Given the description of an element on the screen output the (x, y) to click on. 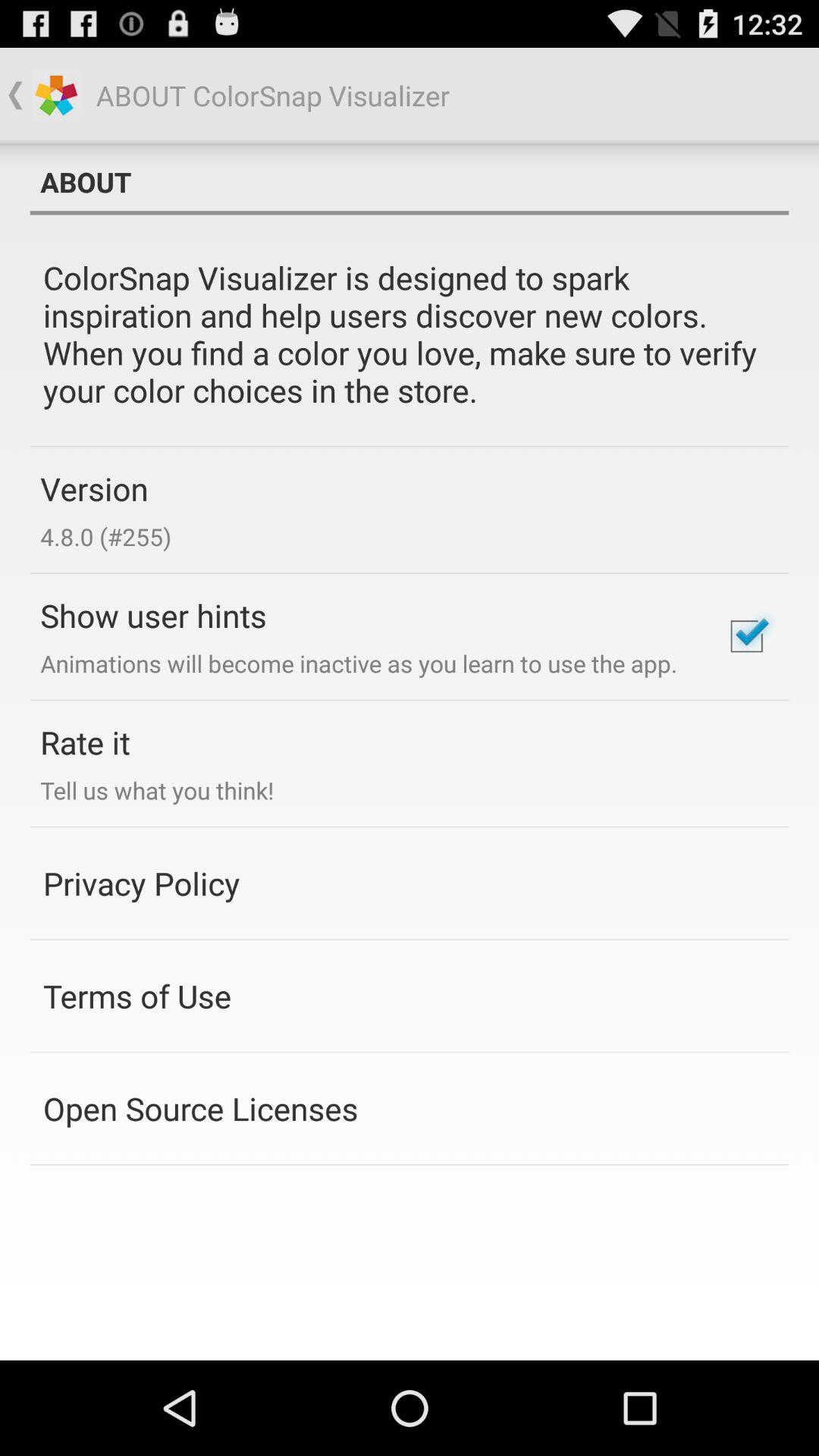
disable this option (746, 636)
